Given the description of an element on the screen output the (x, y) to click on. 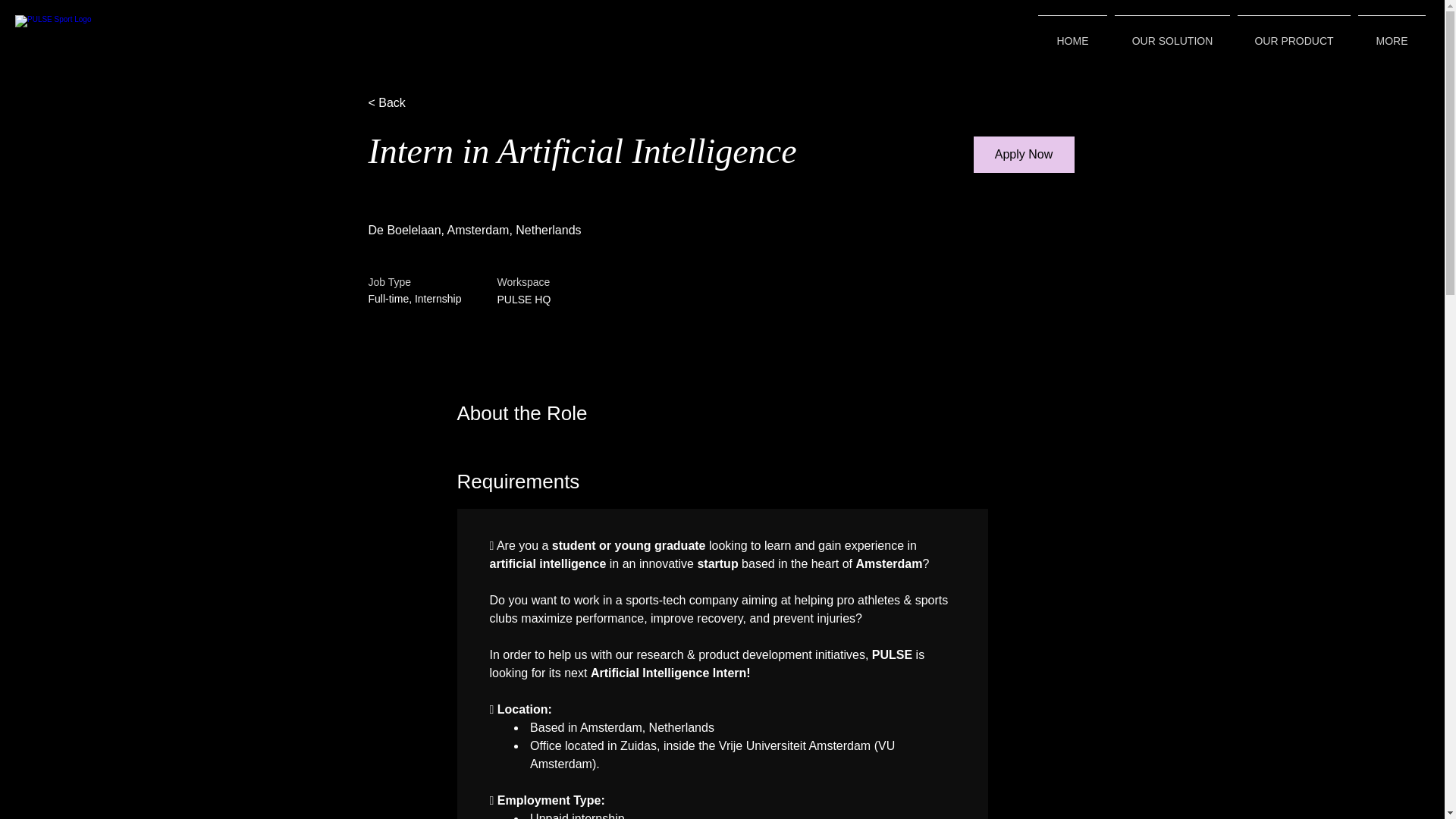
OUR SOLUTION (1171, 34)
HOME (1071, 34)
OUR PRODUCT (1293, 34)
Free Demo (936, 27)
Apply Now (1024, 154)
